Given the description of an element on the screen output the (x, y) to click on. 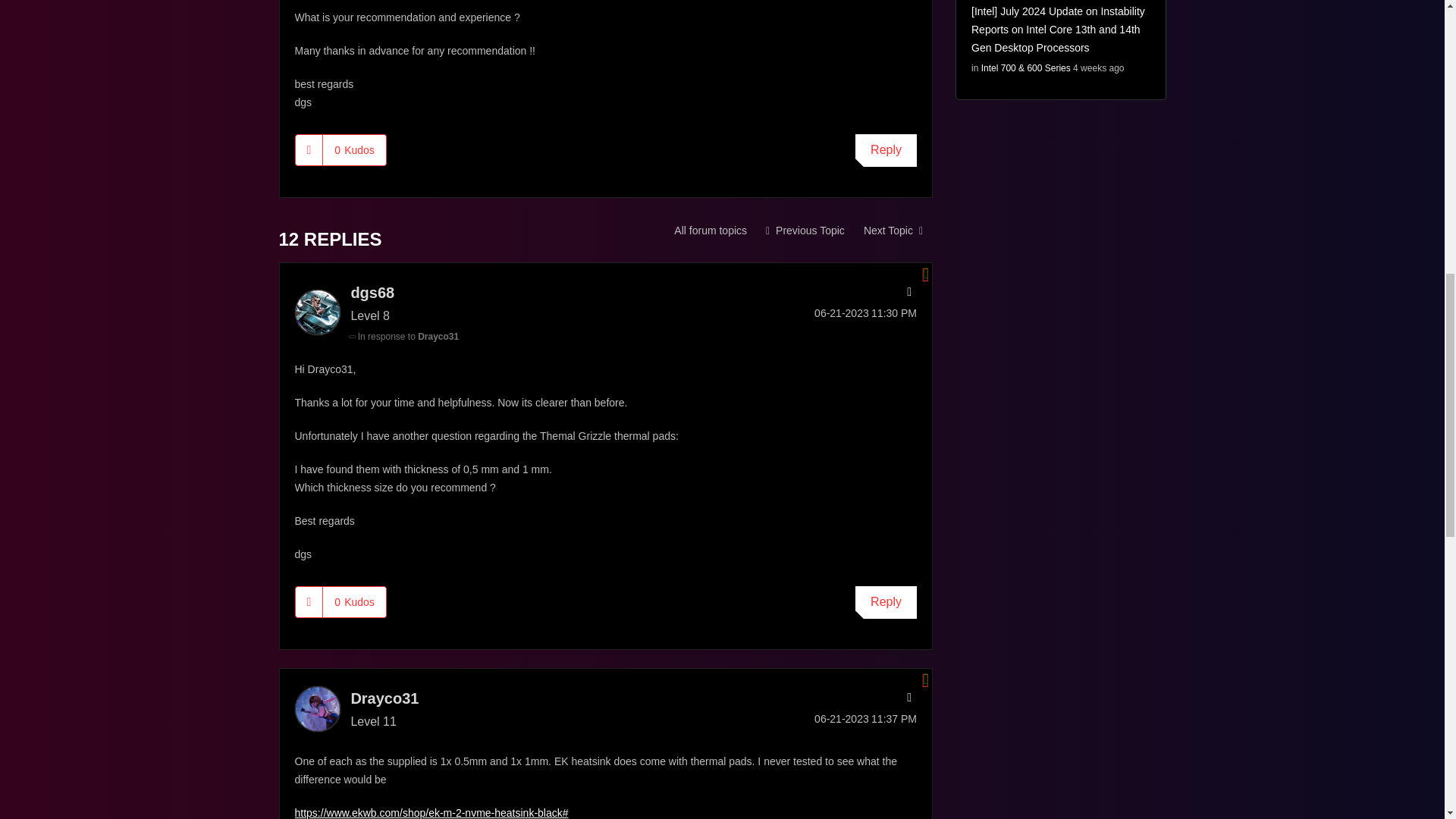
Click here to give kudos to this post. (309, 602)
Click here to give kudos to this post. (309, 150)
The total number of kudos this post has received. (354, 602)
The total number of kudos this post has received. (354, 150)
dgs68 (316, 311)
